Given the description of an element on the screen output the (x, y) to click on. 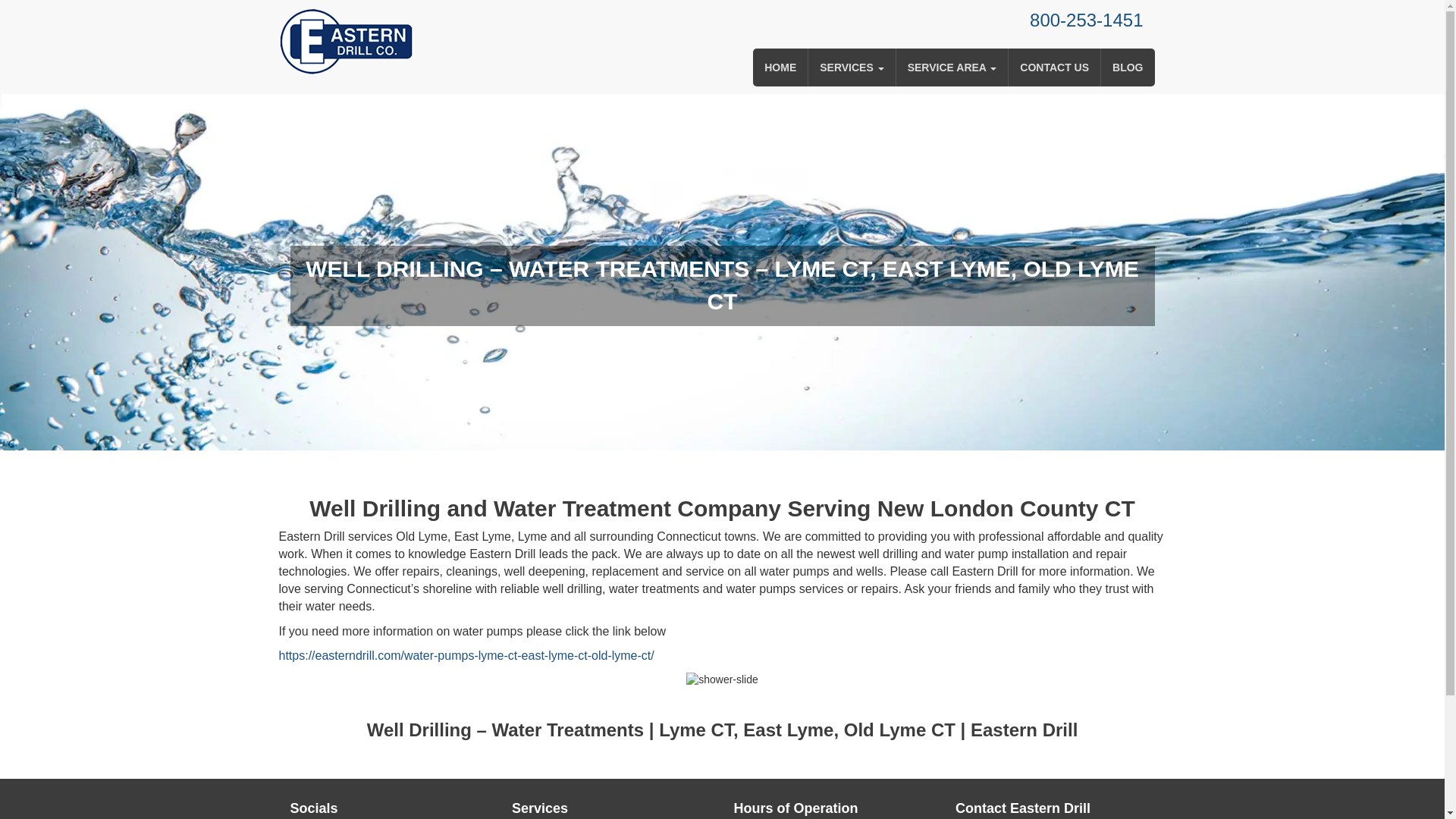
Services (851, 67)
Contact Us (1054, 67)
SERVICES (851, 67)
Service Area (952, 67)
800-253-1451 (1085, 19)
BLOG (1127, 67)
Home (780, 67)
SERVICE AREA (952, 67)
HOME (780, 67)
Blog (1127, 67)
